Given the description of an element on the screen output the (x, y) to click on. 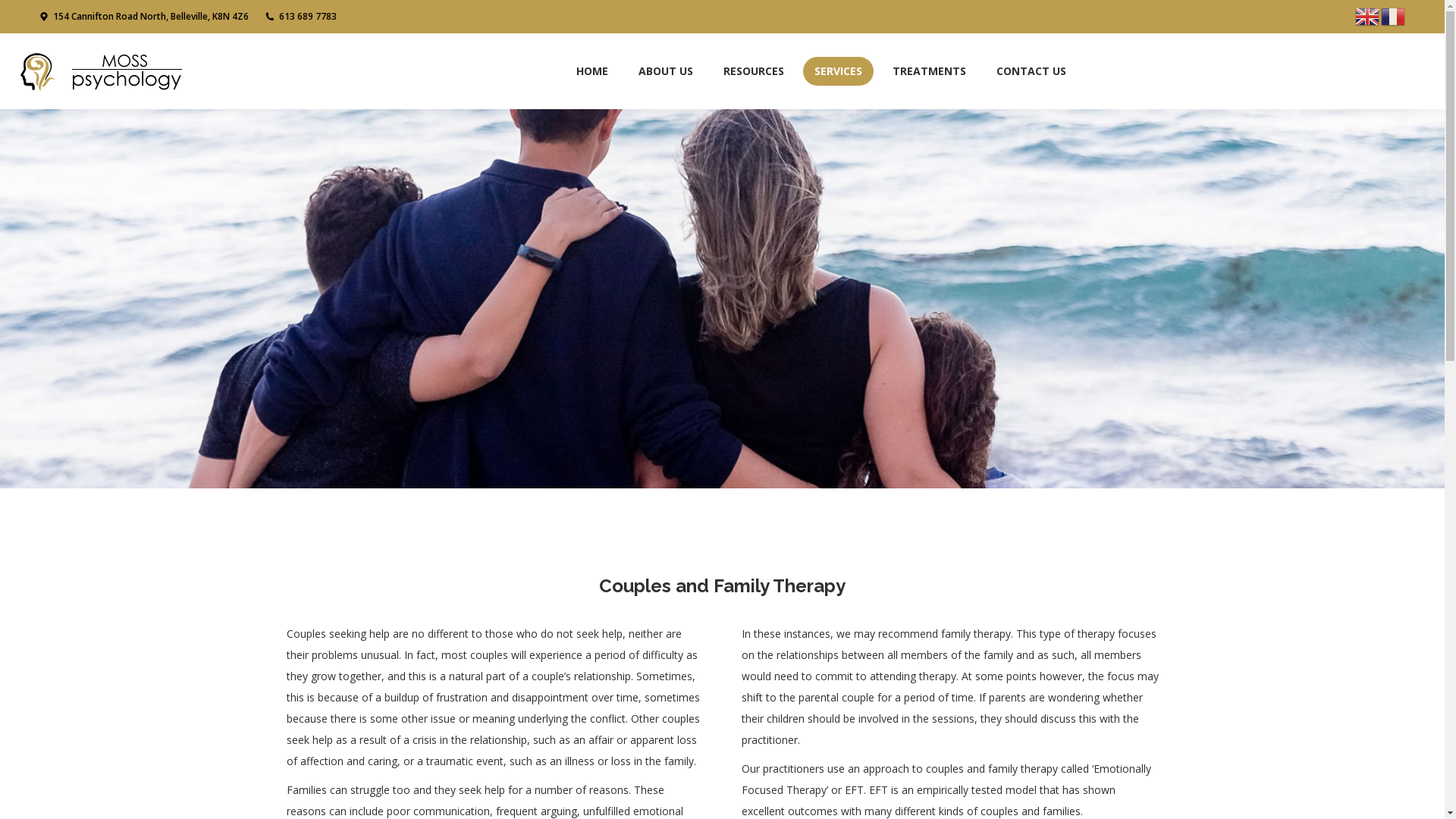
ABOUT US Element type: text (664, 70)
English Element type: hover (1367, 15)
CONTACT US Element type: text (1030, 70)
SERVICES Element type: text (837, 70)
French Element type: hover (1393, 15)
RESOURCES Element type: text (752, 70)
TREATMENTS Element type: text (929, 70)
HOME Element type: text (591, 70)
